Given the description of an element on the screen output the (x, y) to click on. 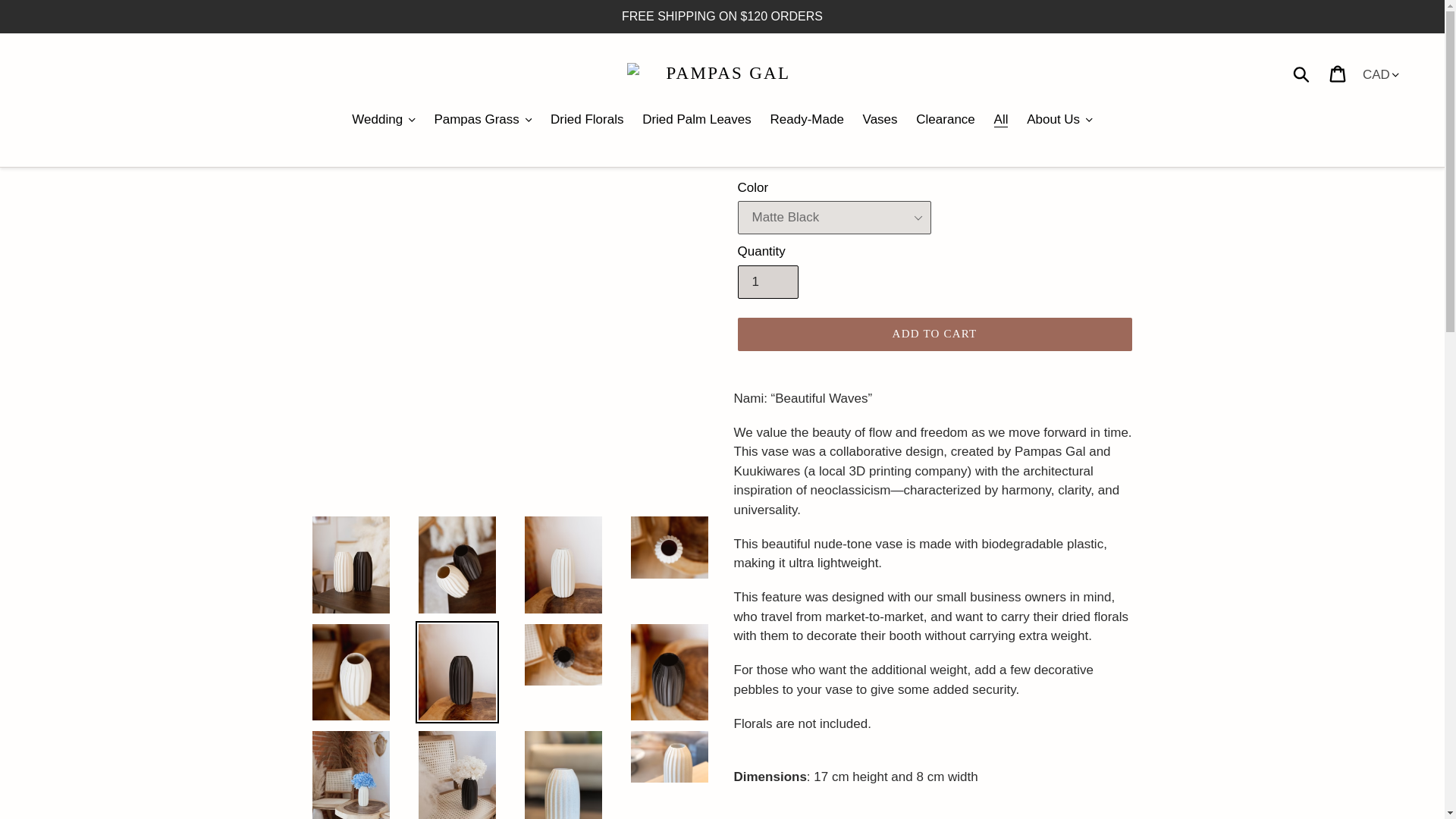
Cart (1338, 73)
1 (766, 281)
Submit (1302, 73)
